Given the description of an element on the screen output the (x, y) to click on. 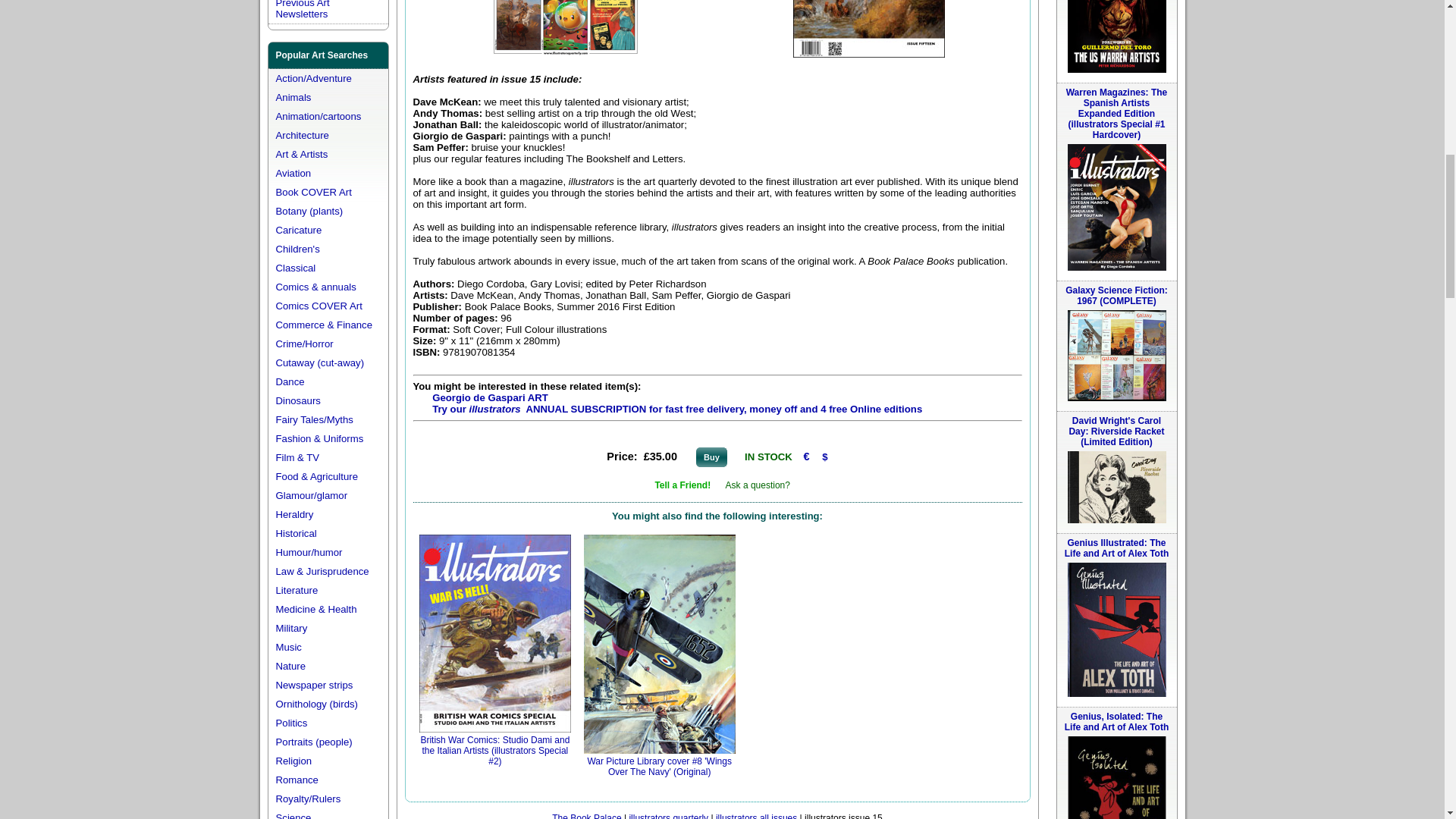
Buy (710, 456)
